Given the description of an element on the screen output the (x, y) to click on. 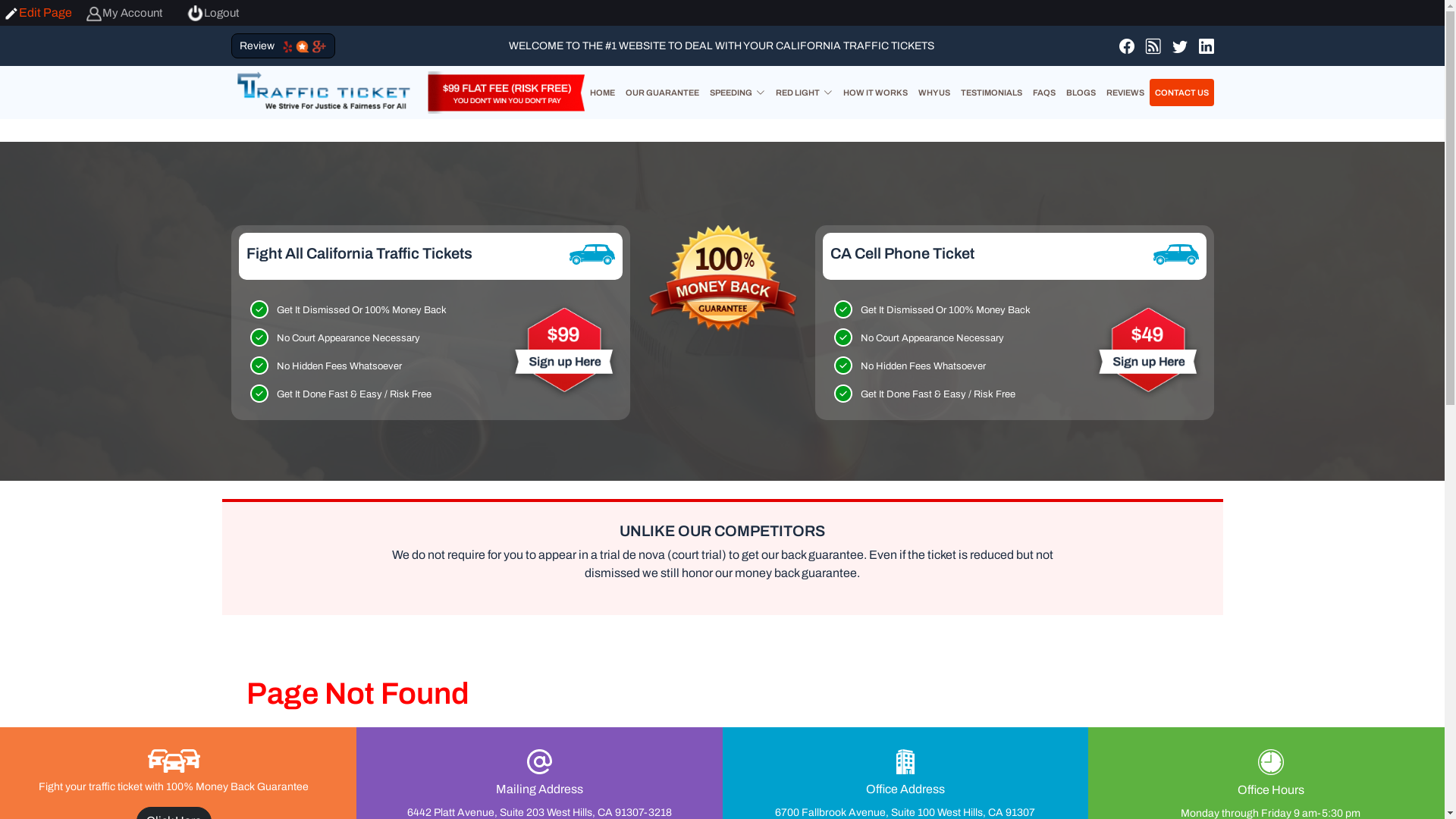
RED LIGHT Element type: text (803, 92)
BLOGS Element type: text (1080, 92)
Edit Page Element type: text (37, 12)
WHY US Element type: text (934, 92)
REVIEWS Element type: text (1125, 92)
Review Element type: text (259, 45)
Logout Element type: text (212, 12)
FAQS Element type: text (1043, 92)
My Account Element type: text (123, 12)
HOW IT WORKS Element type: text (874, 92)
CONTACT US Element type: text (1181, 92)
SPEEDING Element type: text (736, 92)
OUR GUARANTEE Element type: text (662, 92)
TESTIMONIALS Element type: text (991, 92)
HOME Element type: text (601, 92)
